Given the description of an element on the screen output the (x, y) to click on. 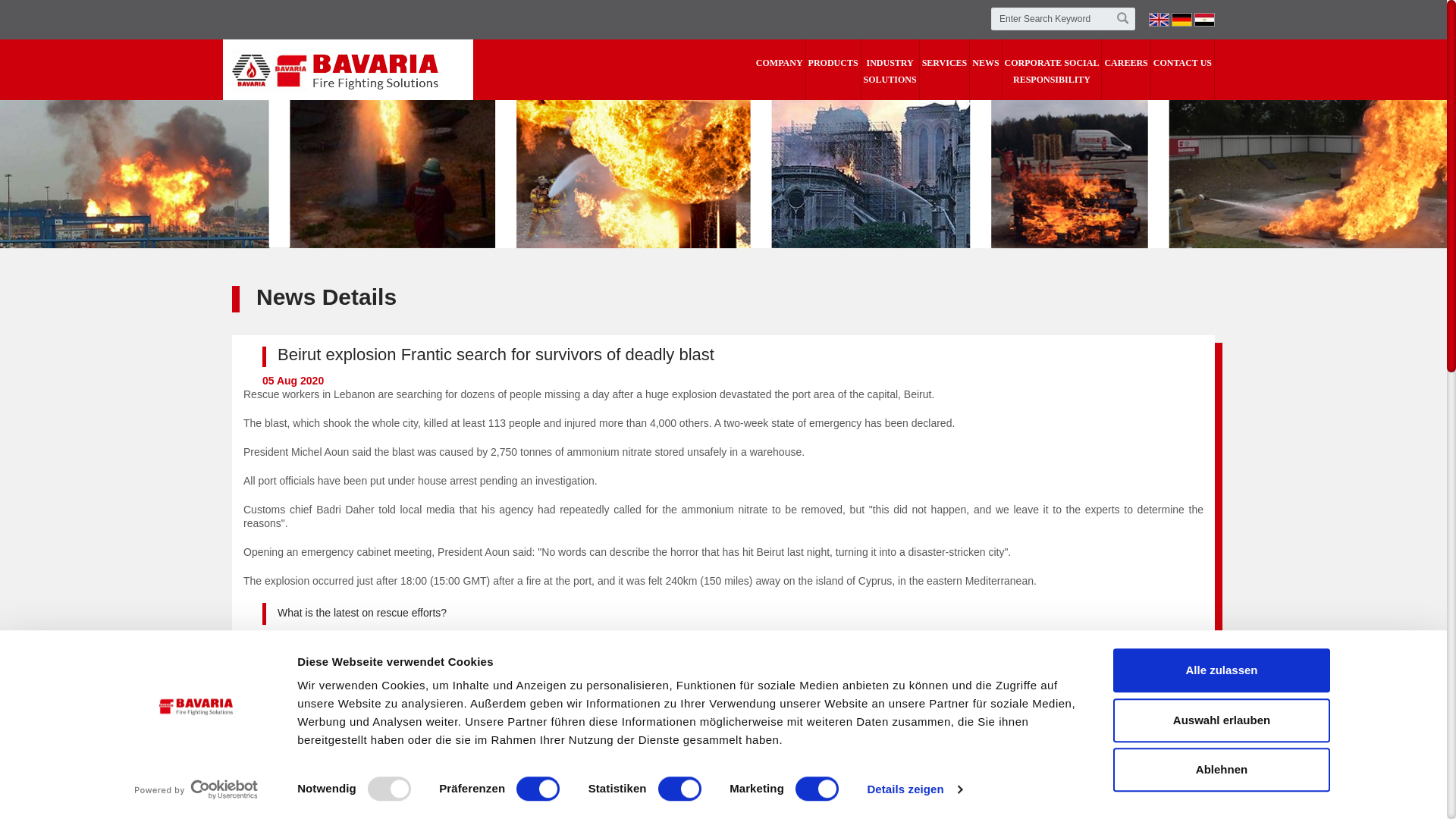
Ablehnen (1221, 769)
Details zeigen (913, 789)
Deutsch (1182, 19)
Alle zulassen (1221, 670)
English (1158, 19)
Arabic (1203, 19)
Home Page (334, 69)
Auswahl erlauben (1221, 720)
